Given the description of an element on the screen output the (x, y) to click on. 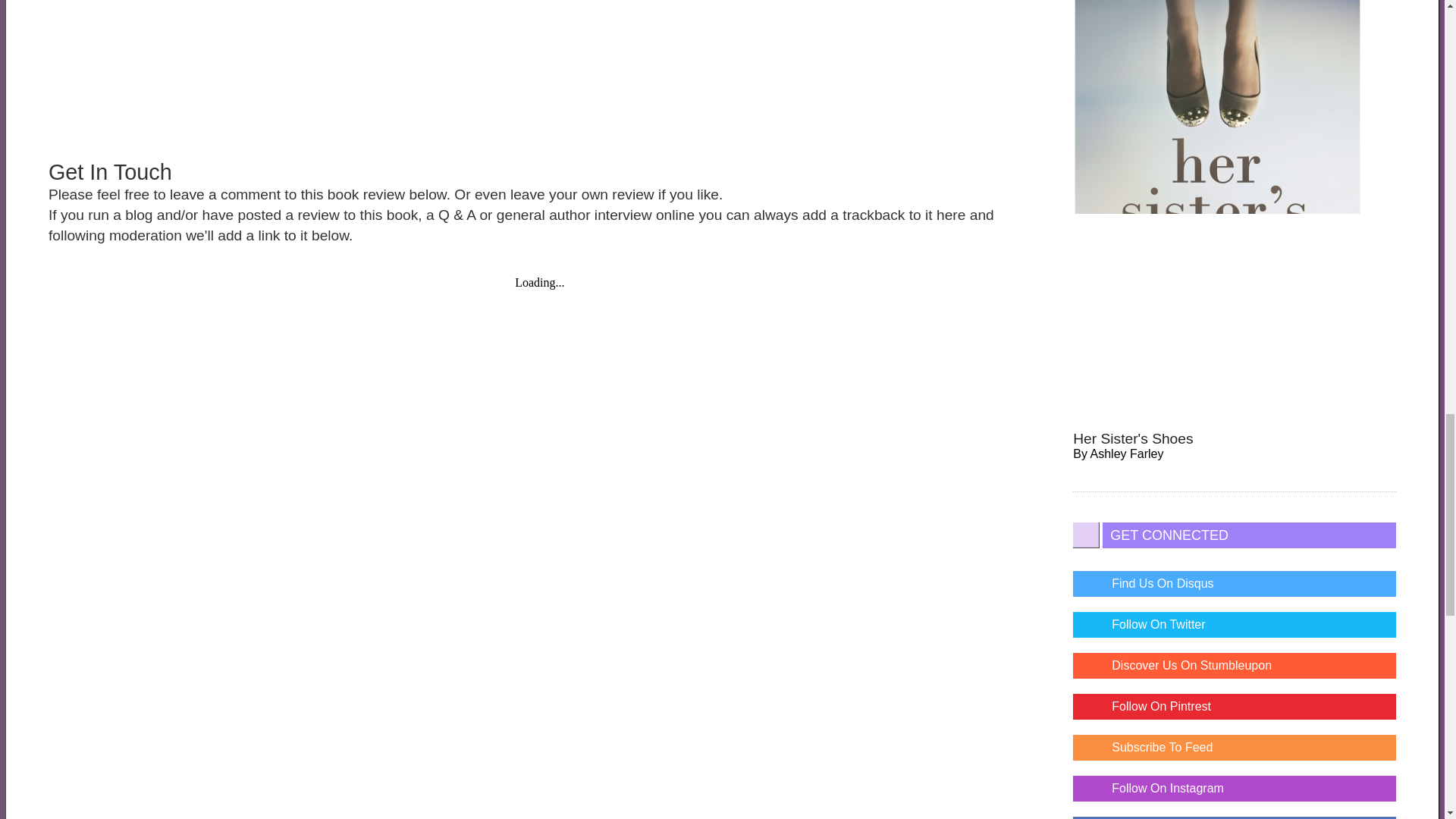
Follow On Pintrest (1234, 706)
Follow On Instagram (1234, 788)
Discover Us On Stumbleupon (1234, 665)
Find Us On Disqus (1234, 583)
Her Sister'S Shoes (1132, 438)
Subscribe To Feed (1234, 747)
Follow On Twitter (1234, 624)
